Given the description of an element on the screen output the (x, y) to click on. 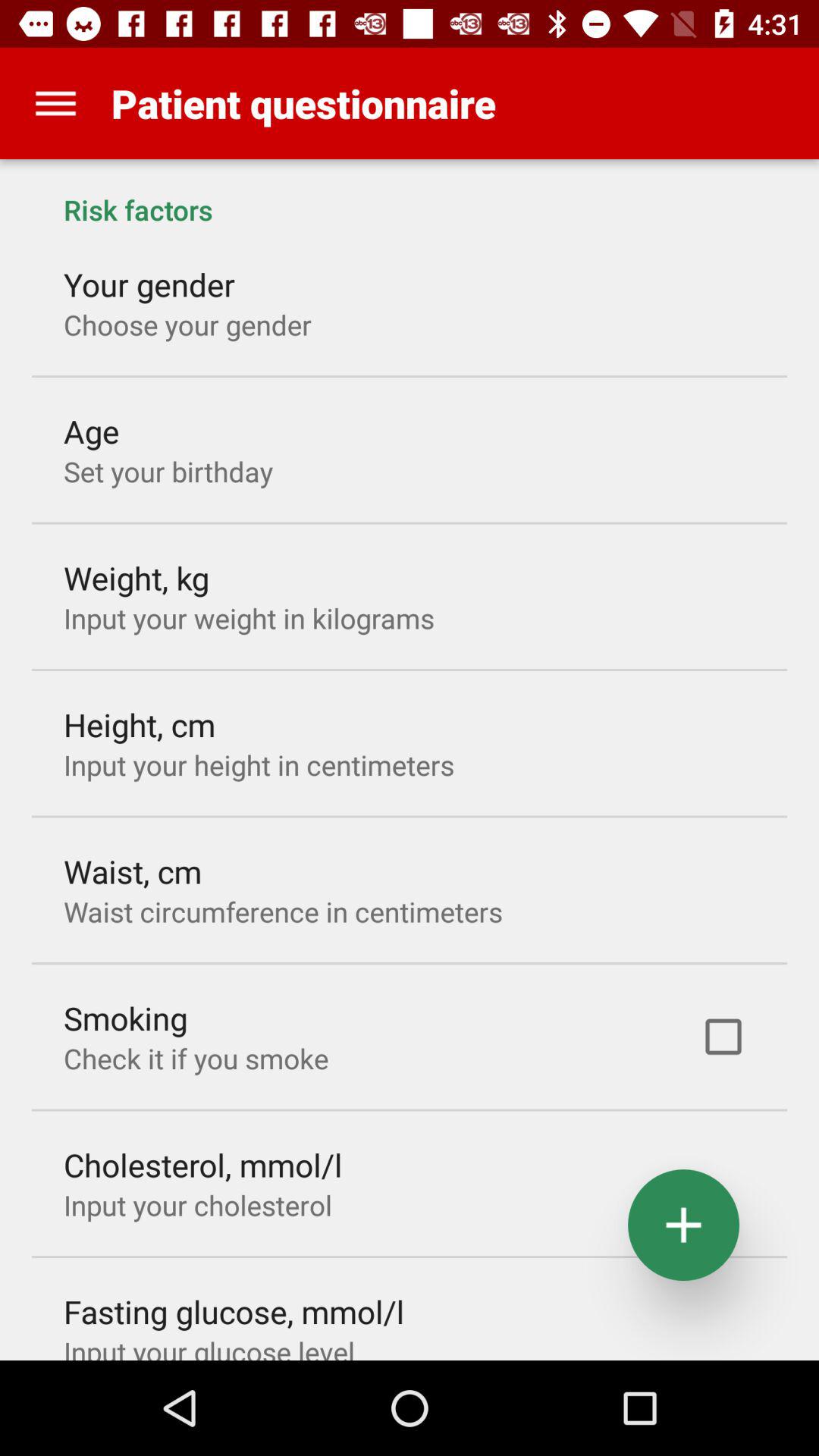
jump until fasting glucose mmol (233, 1311)
